Given the description of an element on the screen output the (x, y) to click on. 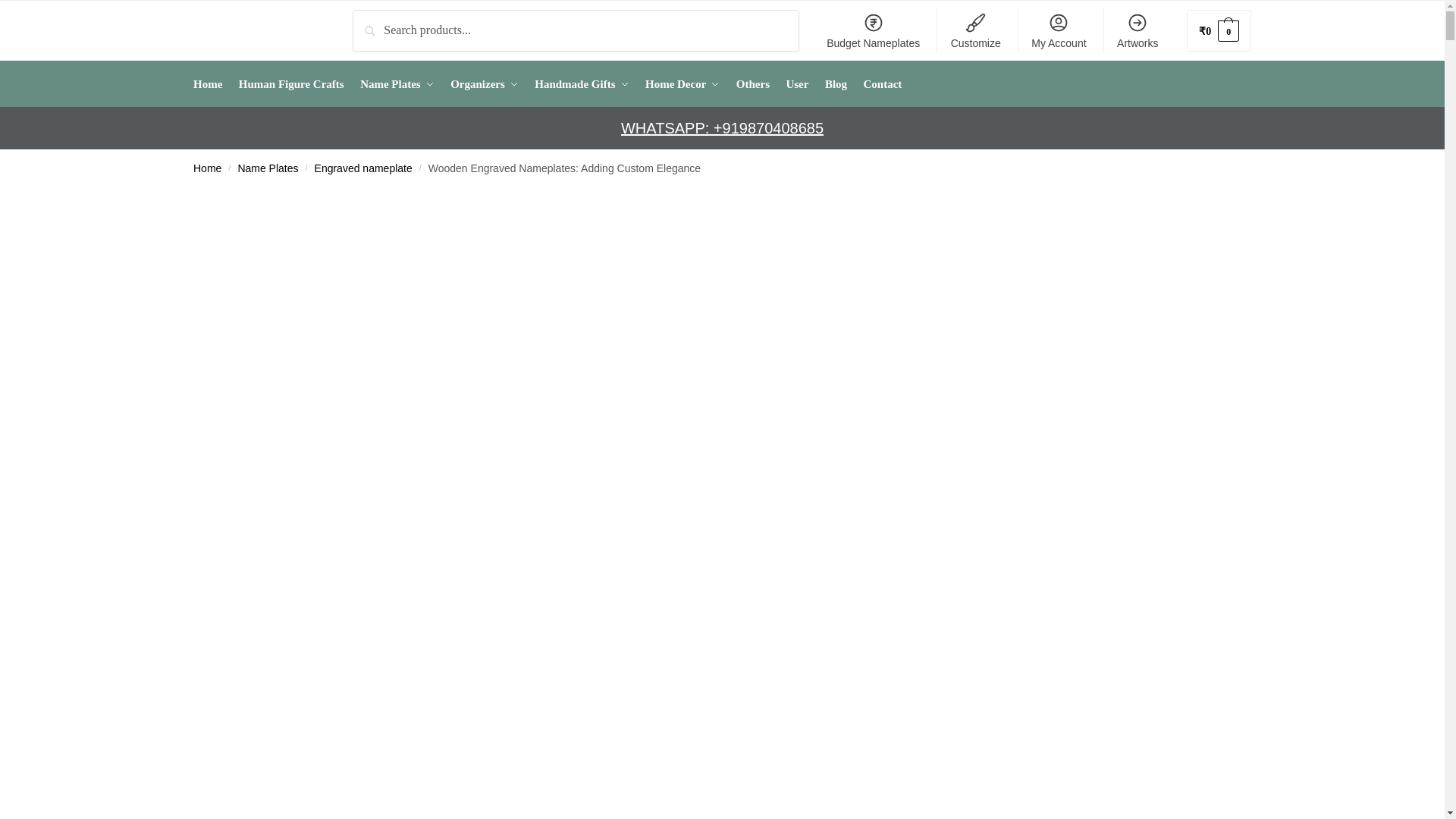
Home (210, 84)
Name Plates (397, 84)
Customize (975, 30)
Artworks (1137, 30)
Organizers (484, 84)
My Account (1059, 30)
Budget Nameplates (872, 30)
View your shopping cart (1218, 30)
Search (373, 20)
Handmade Gifts (581, 84)
Human Figure Crafts (291, 84)
